Given the description of an element on the screen output the (x, y) to click on. 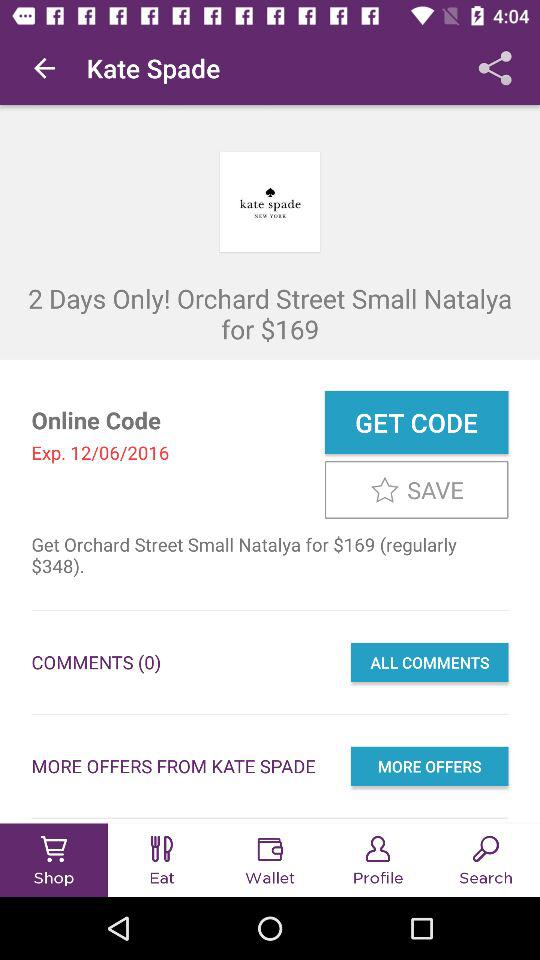
turn off the item above 2 days only icon (495, 67)
